Given the description of an element on the screen output the (x, y) to click on. 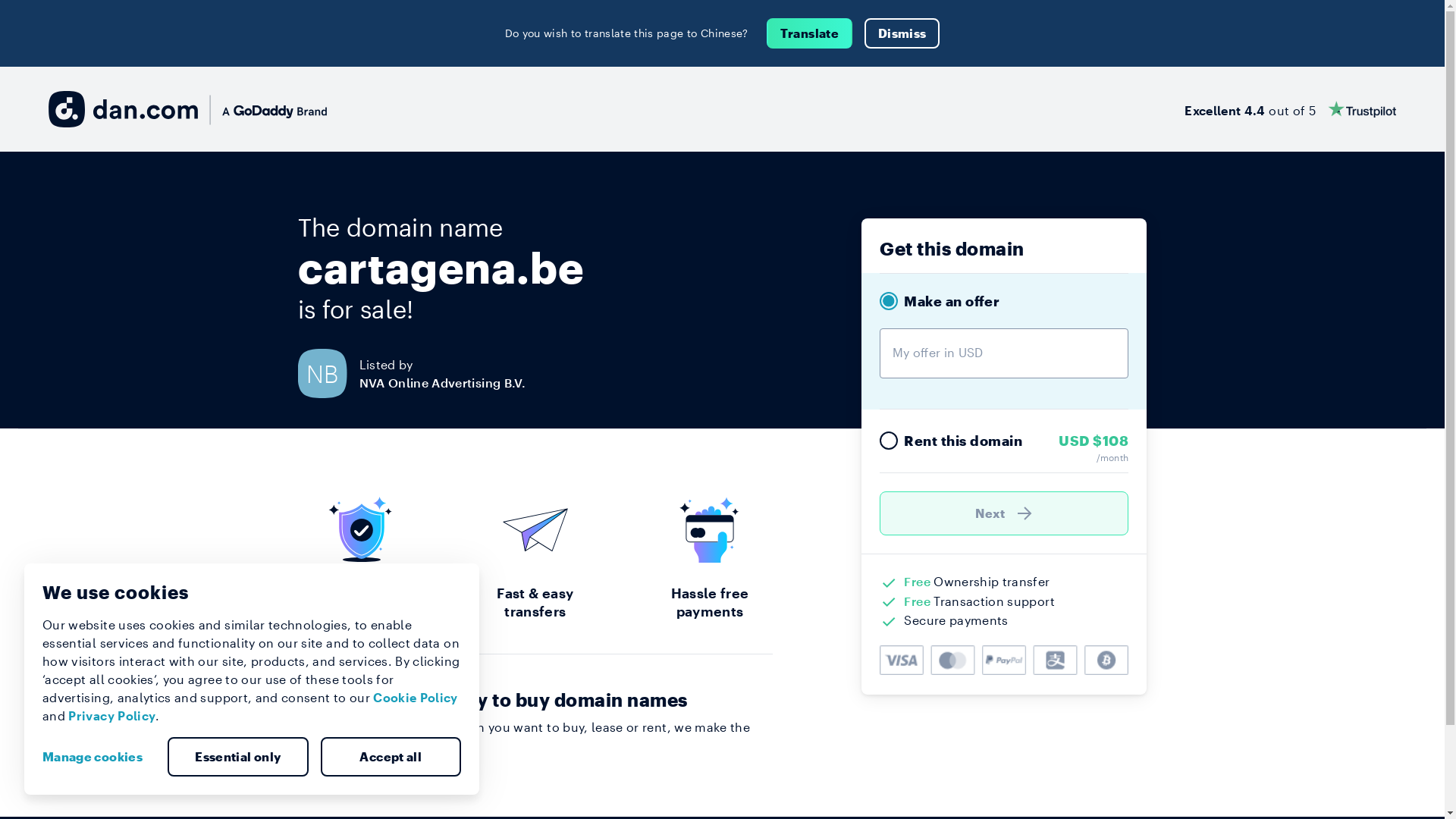
Accept all Element type: text (390, 756)
Manage cookies Element type: text (98, 756)
Privacy Policy Element type: text (111, 715)
Dismiss Element type: text (901, 33)
Cookie Policy Element type: text (415, 697)
Next
) Element type: text (1003, 513)
Translate Element type: text (809, 33)
Excellent 4.4 out of 5 Element type: text (1290, 109)
Essential only Element type: text (237, 756)
